Given the description of an element on the screen output the (x, y) to click on. 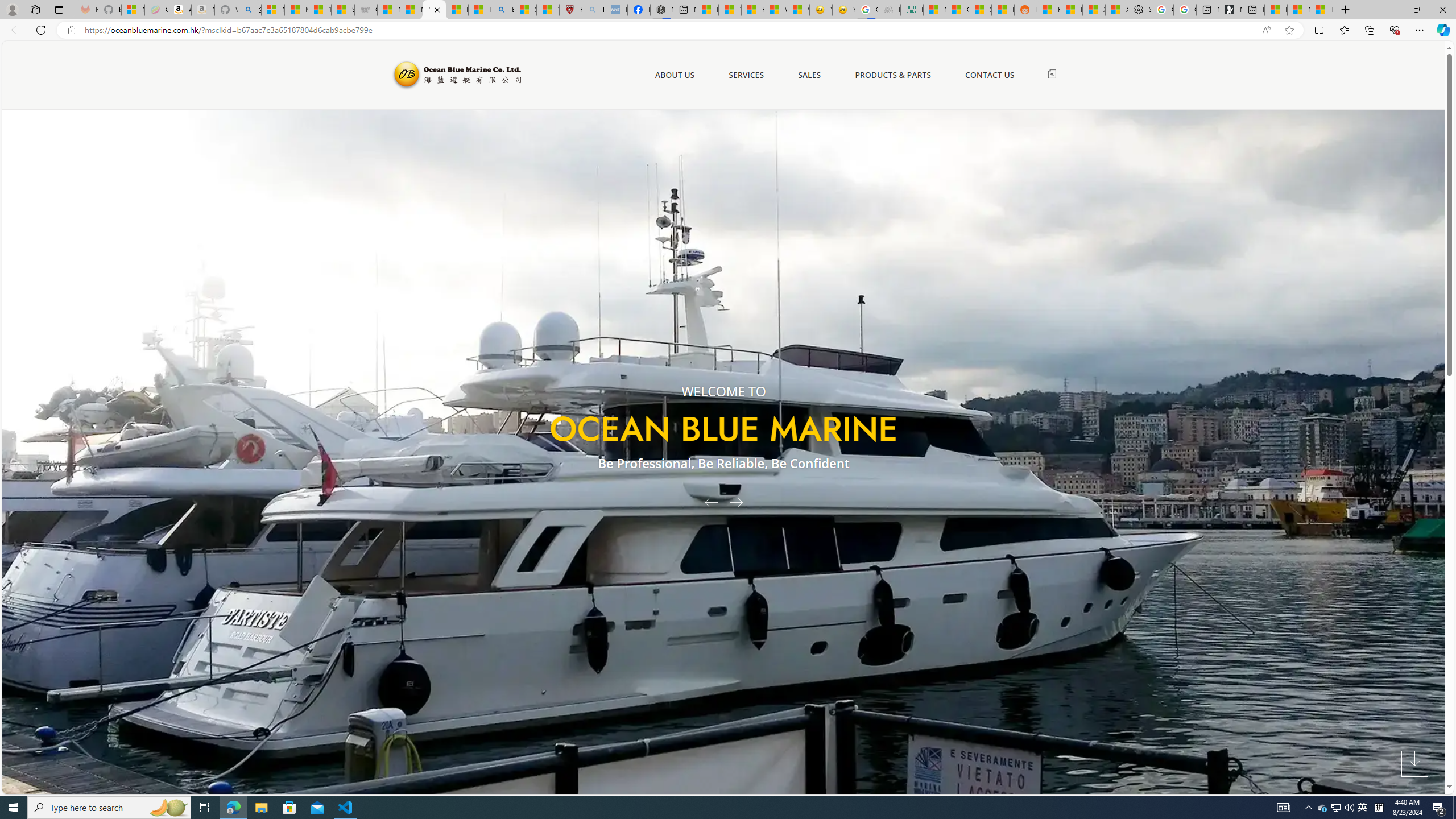
MSN (1003, 9)
SERVICES (746, 75)
DITOGAMES AG Imprint (911, 9)
Microsoft Start Gaming (1230, 9)
Combat Siege (365, 9)
CONTACT US (989, 74)
SALES (809, 74)
SERVICES (746, 74)
These 3 Stocks Pay You More Than 5% to Own Them (1321, 9)
